Given the description of an element on the screen output the (x, y) to click on. 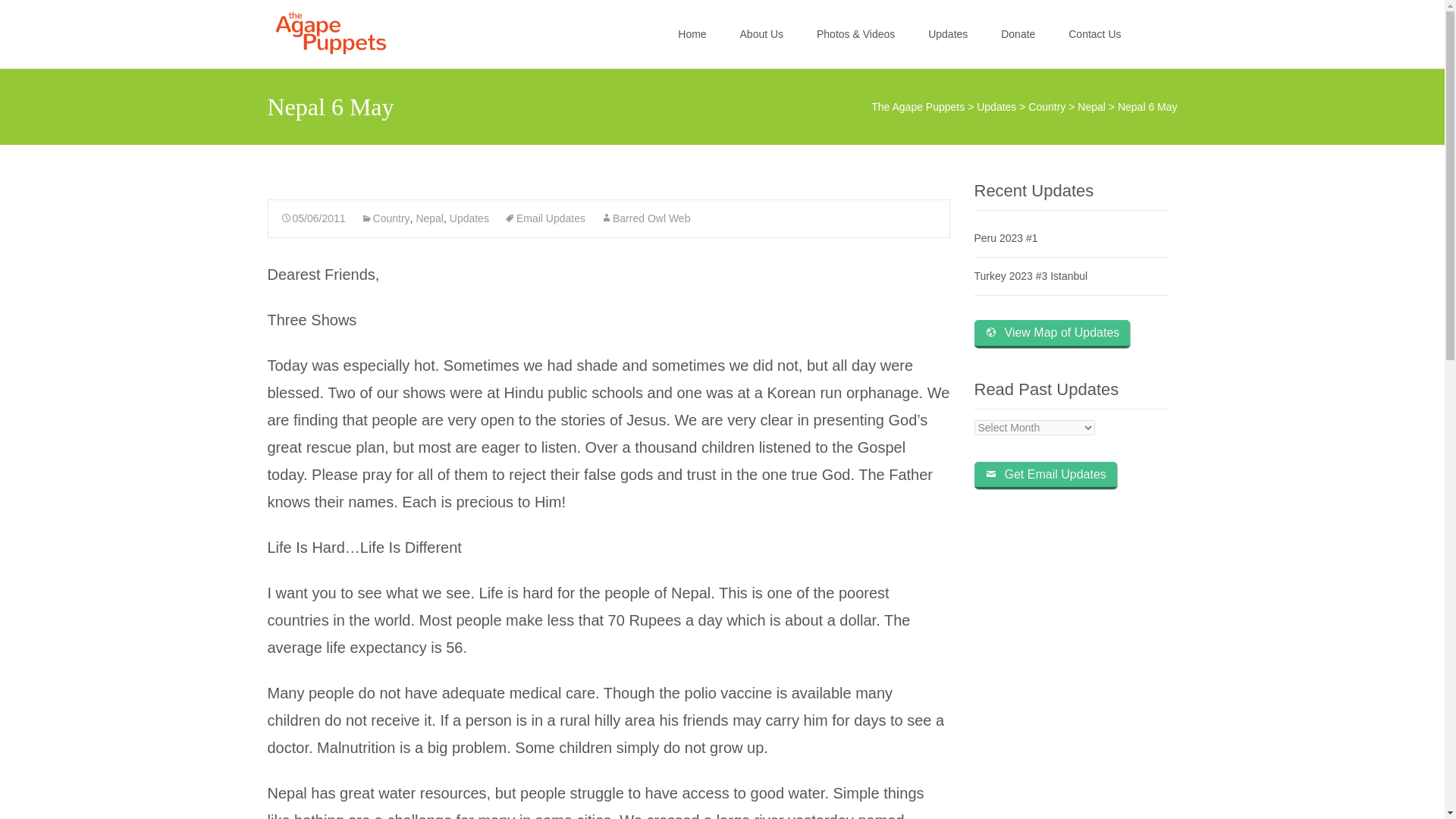
Go to the Nepal Category archives. (1091, 106)
Updates (996, 106)
View all posts by Barred Owl Web (644, 218)
Search for: (1163, 35)
Email Updates (544, 218)
Country (1046, 106)
Go to the Country Category archives. (1046, 106)
Barred Owl Web (644, 218)
The Agape Puppets (916, 106)
Permalink to Nepal 6 May (313, 218)
